Given the description of an element on the screen output the (x, y) to click on. 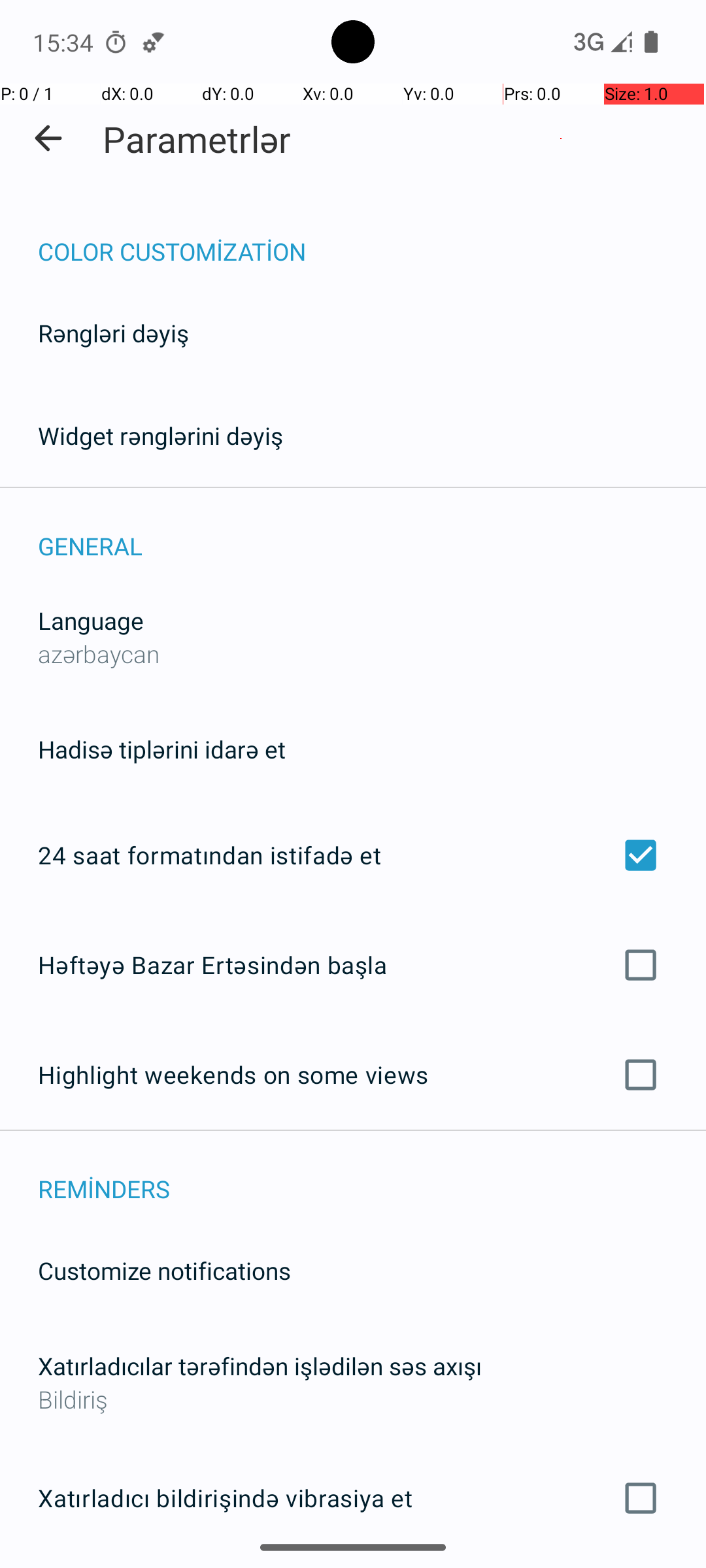
Parametrlər Element type: android.widget.TextView (196, 138)
COLOR CUSTOMİZATİON Element type: android.widget.TextView (371, 237)
REMİNDERS Element type: android.widget.TextView (371, 1174)
Rəngləri dəyiş Element type: android.widget.TextView (112, 332)
Widget rənglərini dəyiş Element type: android.widget.TextView (160, 435)
azərbaycan Element type: android.widget.TextView (98, 653)
Hadisə tiplərini idarə et Element type: android.widget.TextView (161, 748)
24 saat formatından istifadə et Element type: android.widget.CheckBox (352, 855)
Həftəyə Bazar Ertəsindən başla Element type: android.widget.CheckBox (352, 964)
Xatırladıcılar tərəfindən işlədilən səs axışı Element type: android.widget.TextView (259, 1365)
Bildiriş Element type: android.widget.TextView (352, 1398)
Xatırladıcı bildirişində vibrasiya et Element type: android.widget.CheckBox (352, 1497)
Buraxılana qədər xatırladıcıları təkrarla Element type: android.widget.CheckBox (352, 1567)
